Given the description of an element on the screen output the (x, y) to click on. 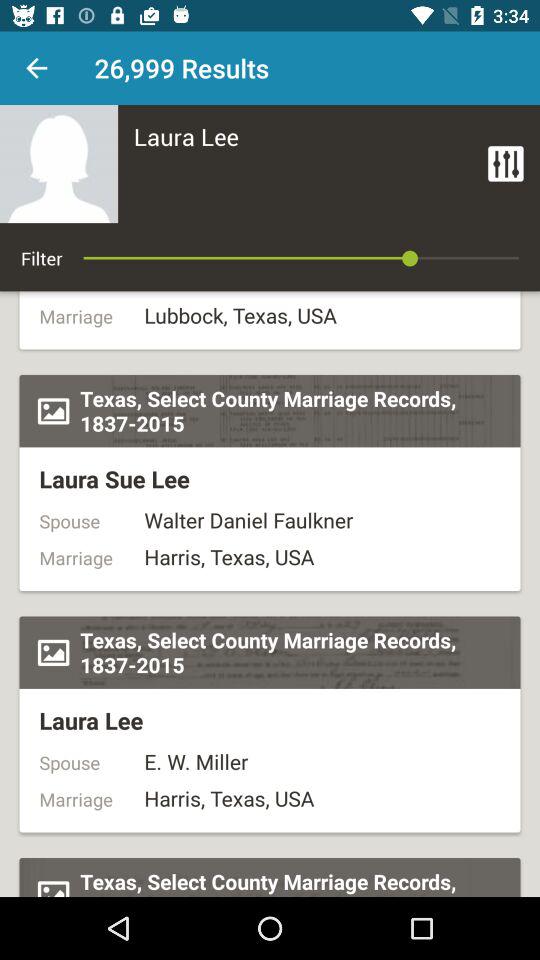
filtering options (505, 163)
